Given the description of an element on the screen output the (x, y) to click on. 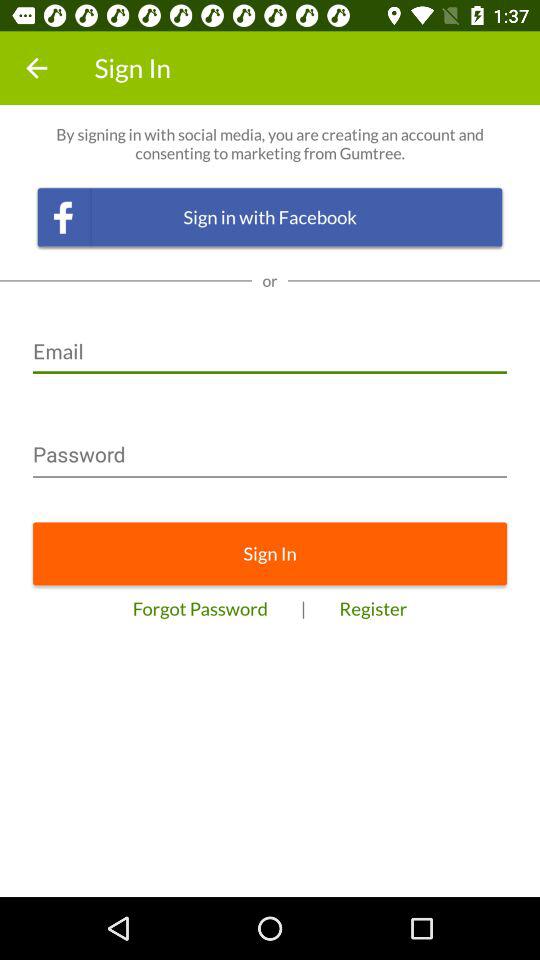
scroll to the register item (373, 608)
